Given the description of an element on the screen output the (x, y) to click on. 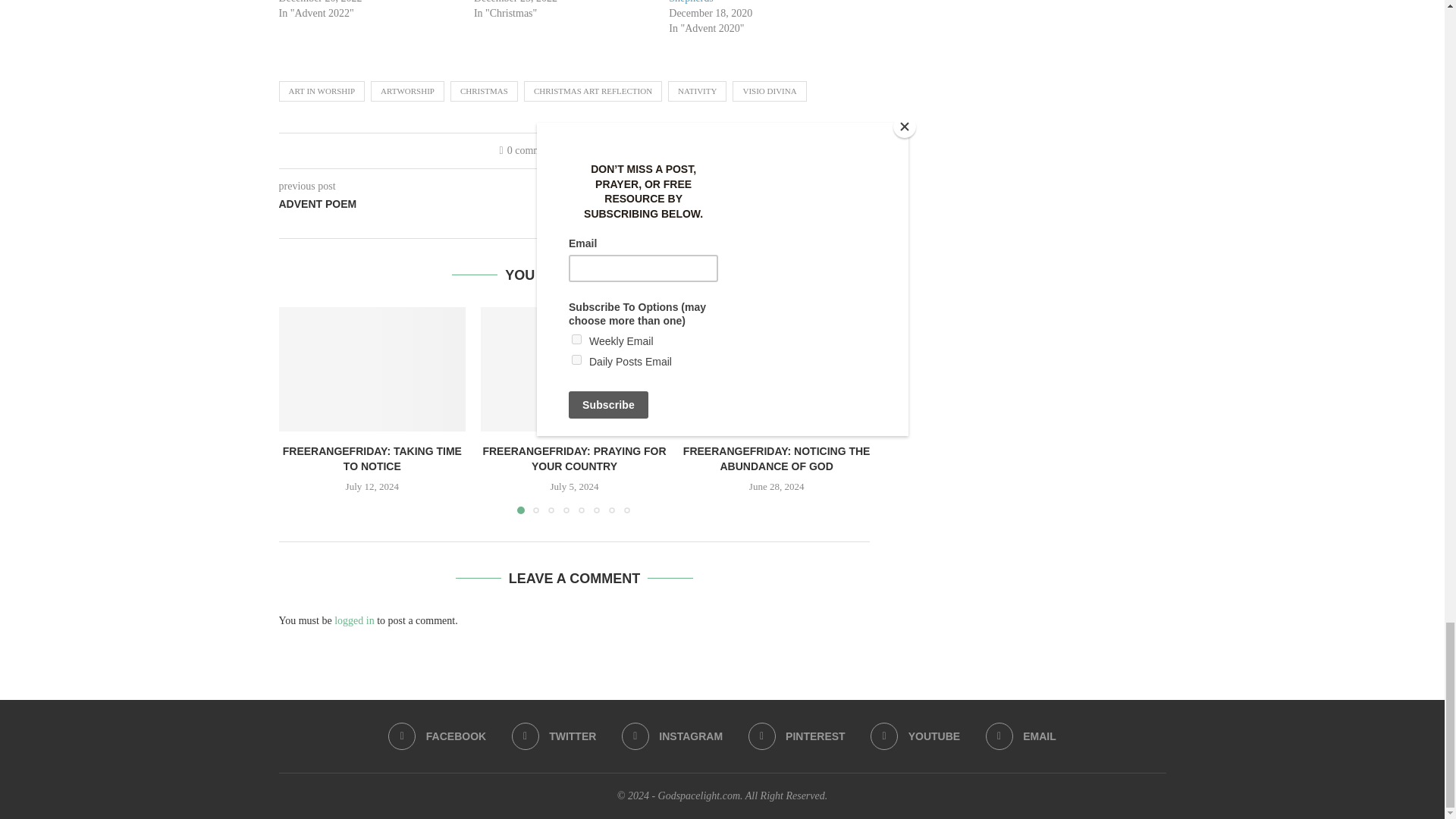
FreerangeFriday: Finding Joy with the Shepherds (749, 2)
FreerangeFriday: Taking time to NOTICE (372, 369)
Like (597, 150)
FreerangeFriday: Praying for your Country (574, 369)
FreerangeFriday: Noticing the Abundance of God (776, 369)
